Given the description of an element on the screen output the (x, y) to click on. 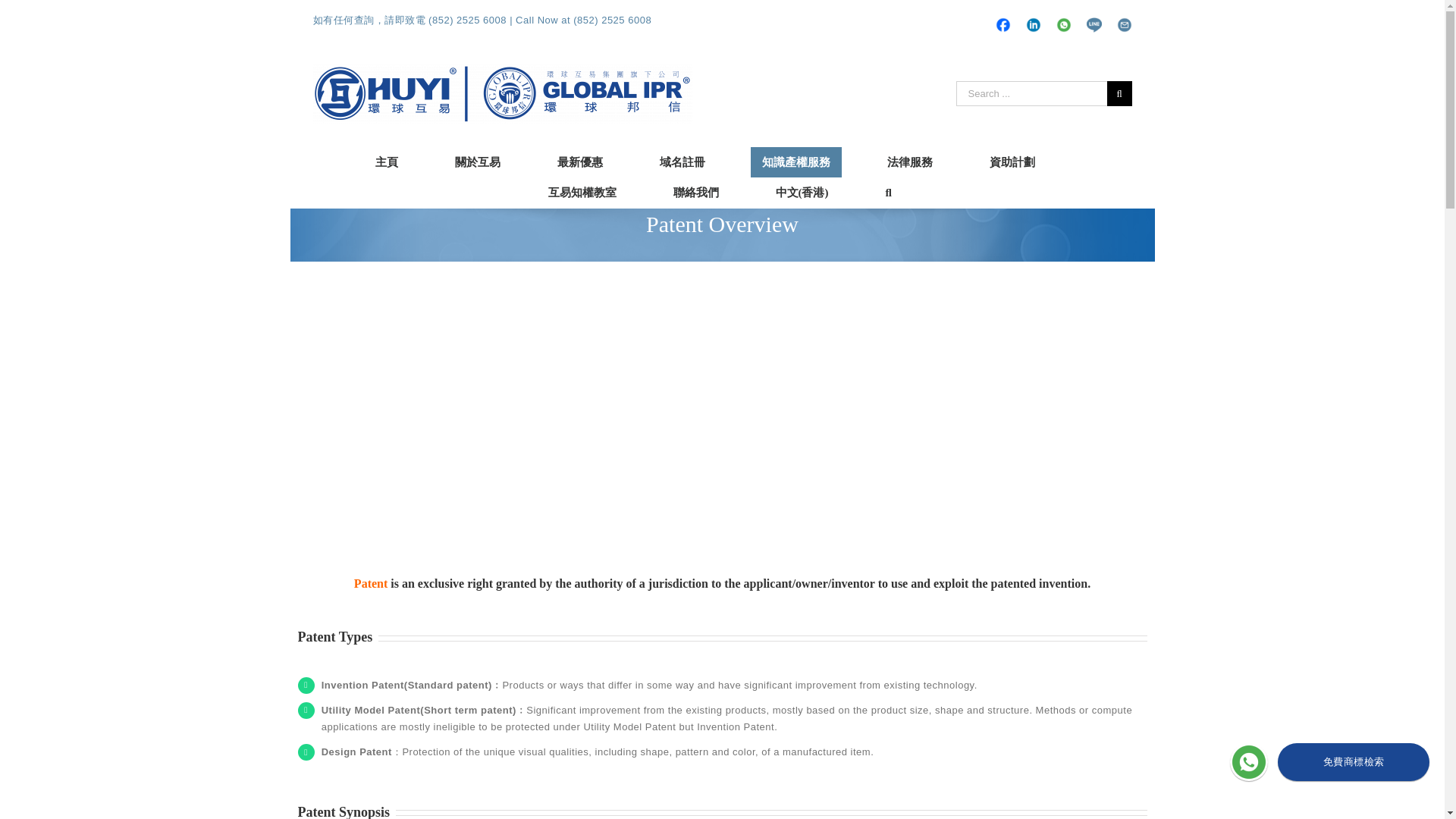
Facebook (1002, 14)
Whatsapp (1064, 14)
Email (1123, 14)
Line (1094, 24)
LinkedIn (1033, 14)
Line (1094, 24)
Email (1123, 14)
Facebook (1002, 14)
LinkedIn (1033, 14)
Search (890, 192)
